Given the description of an element on the screen output the (x, y) to click on. 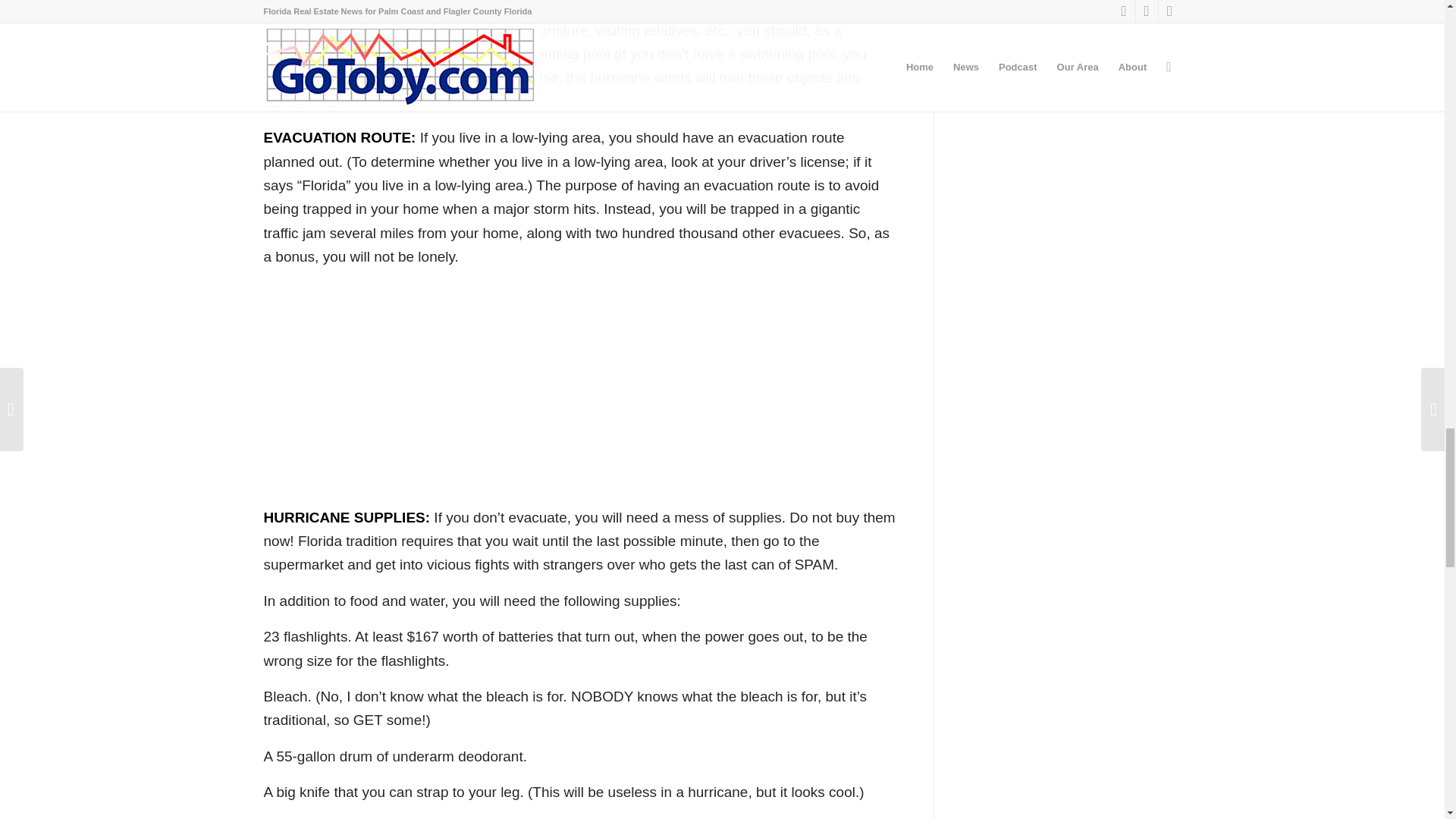
Advertisement (579, 386)
